Given the description of an element on the screen output the (x, y) to click on. 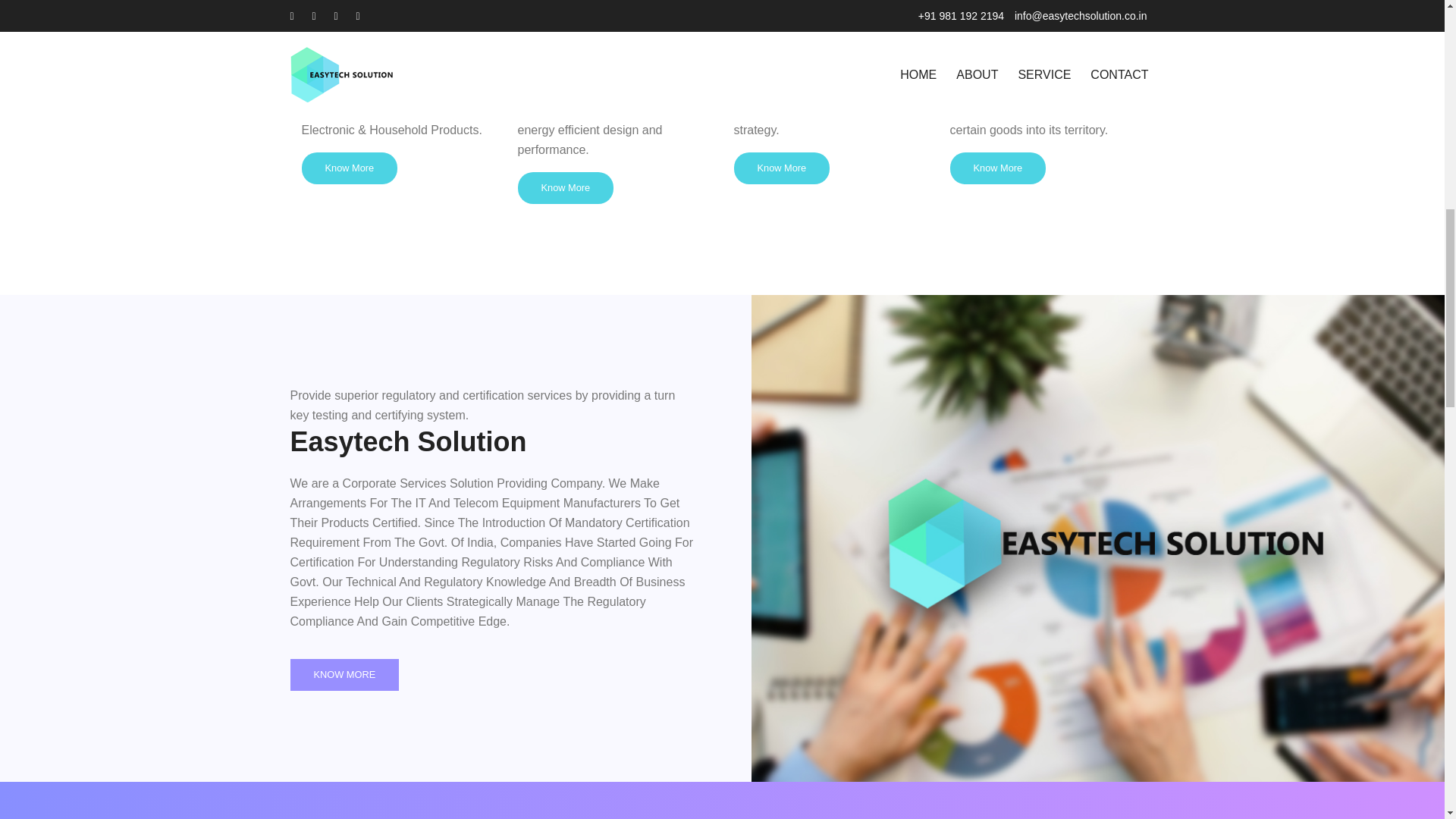
Know More (349, 168)
Know More (781, 168)
KNOW MORE (343, 675)
Know More (564, 187)
Know More (997, 168)
